Given the description of an element on the screen output the (x, y) to click on. 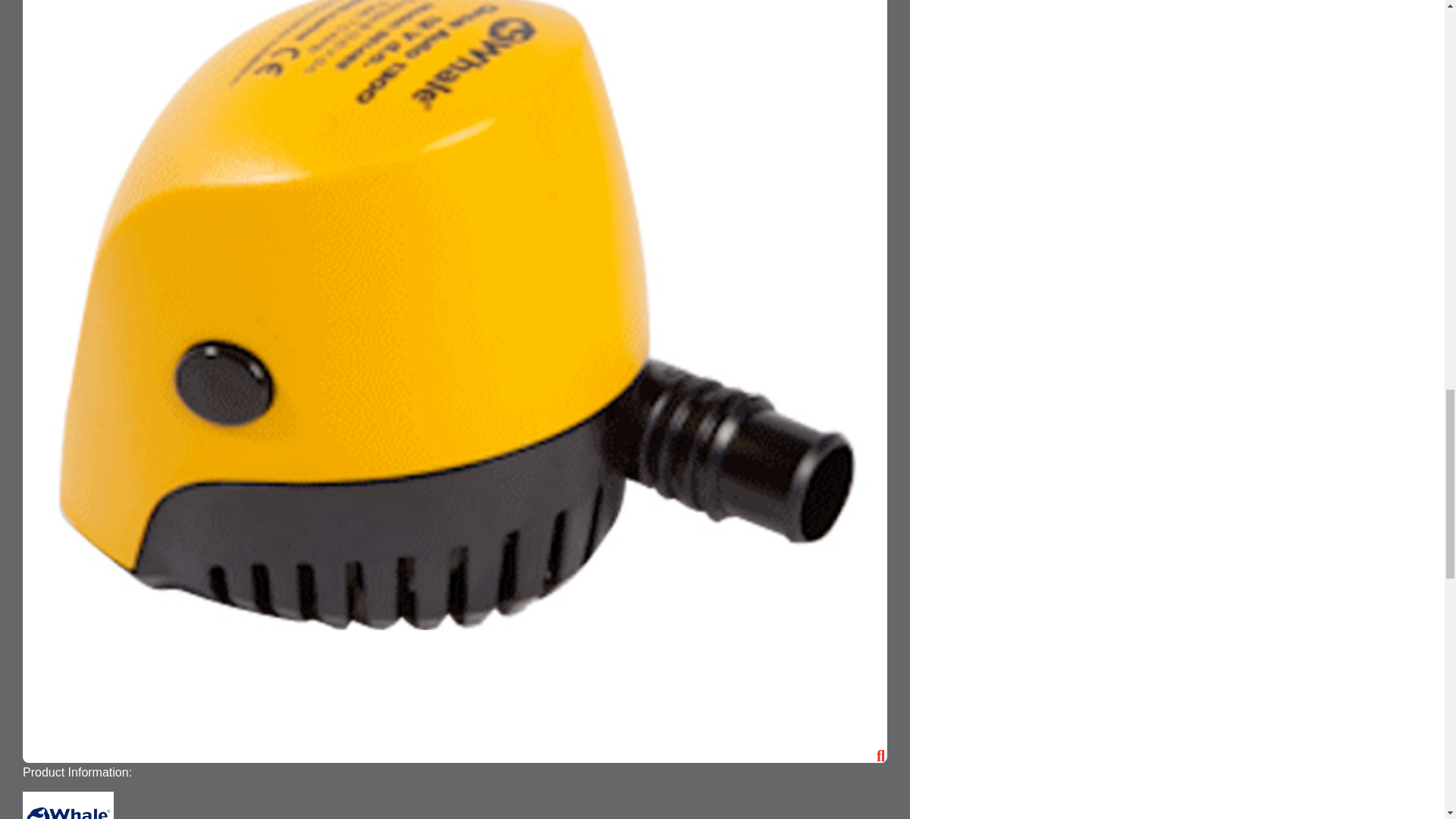
Whale Orca Submersible Bilge Pump 12v or 24v DC (454, 758)
